Given the description of an element on the screen output the (x, y) to click on. 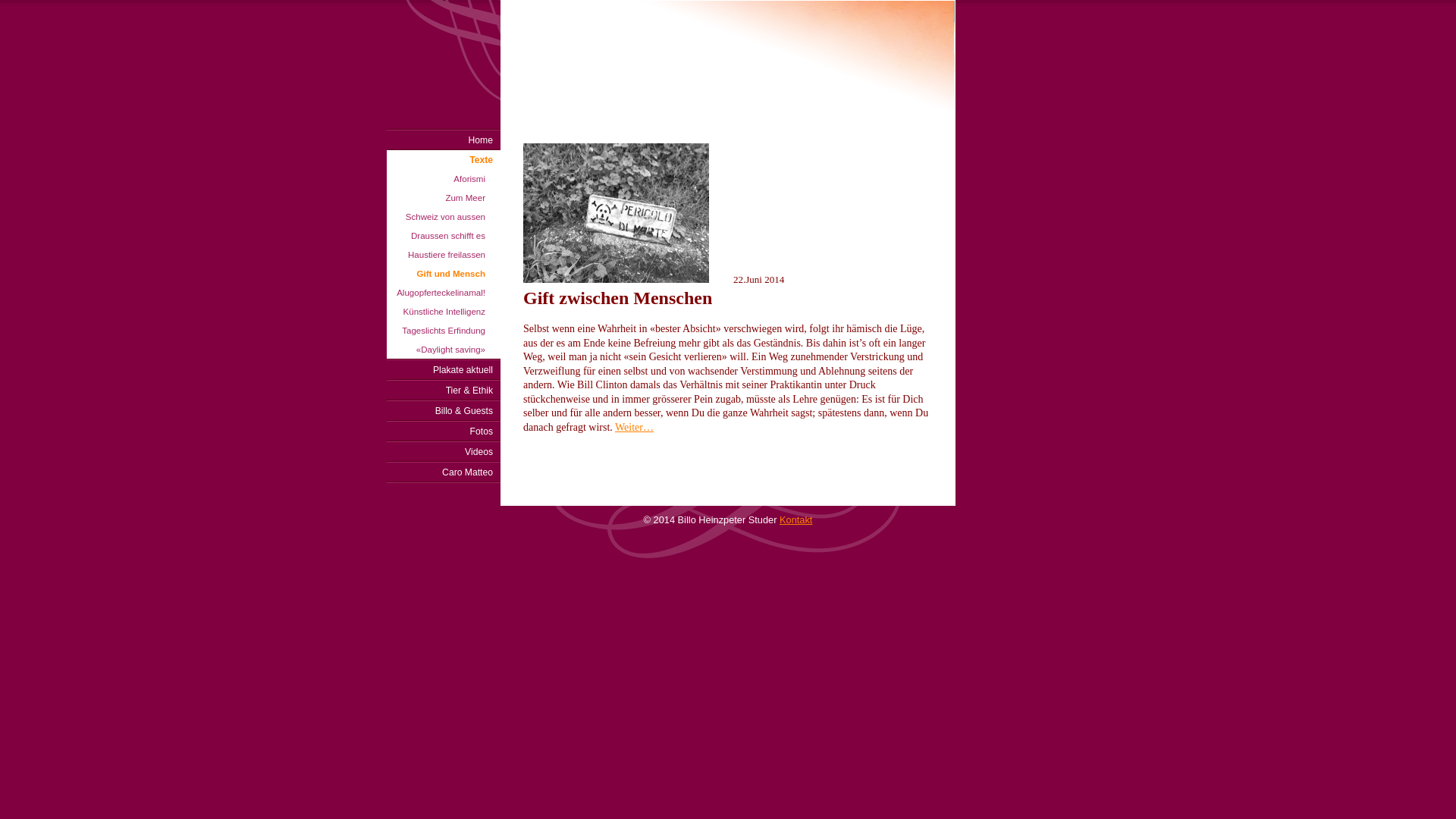
Schweiz von aussen Element type: text (443, 216)
Haustiere freilassen Element type: text (443, 253)
Tier & Ethik Element type: text (443, 389)
Fotos Element type: text (443, 430)
Draussen schifft es Element type: text (443, 234)
Aforismi Element type: text (443, 178)
Gift und Mensch Element type: text (443, 272)
Tageslichts Erfindung Element type: text (443, 329)
Texte Element type: text (443, 159)
Plakate aktuell Element type: text (443, 369)
Zum Meer Element type: text (443, 197)
Caro Matteo Element type: text (443, 471)
Videos Element type: text (443, 451)
Alugopferteckelinamal! Element type: text (443, 291)
Home Element type: text (443, 139)
Kontakt Element type: text (795, 519)
Billo & Guests Element type: text (443, 410)
